Given the description of an element on the screen output the (x, y) to click on. 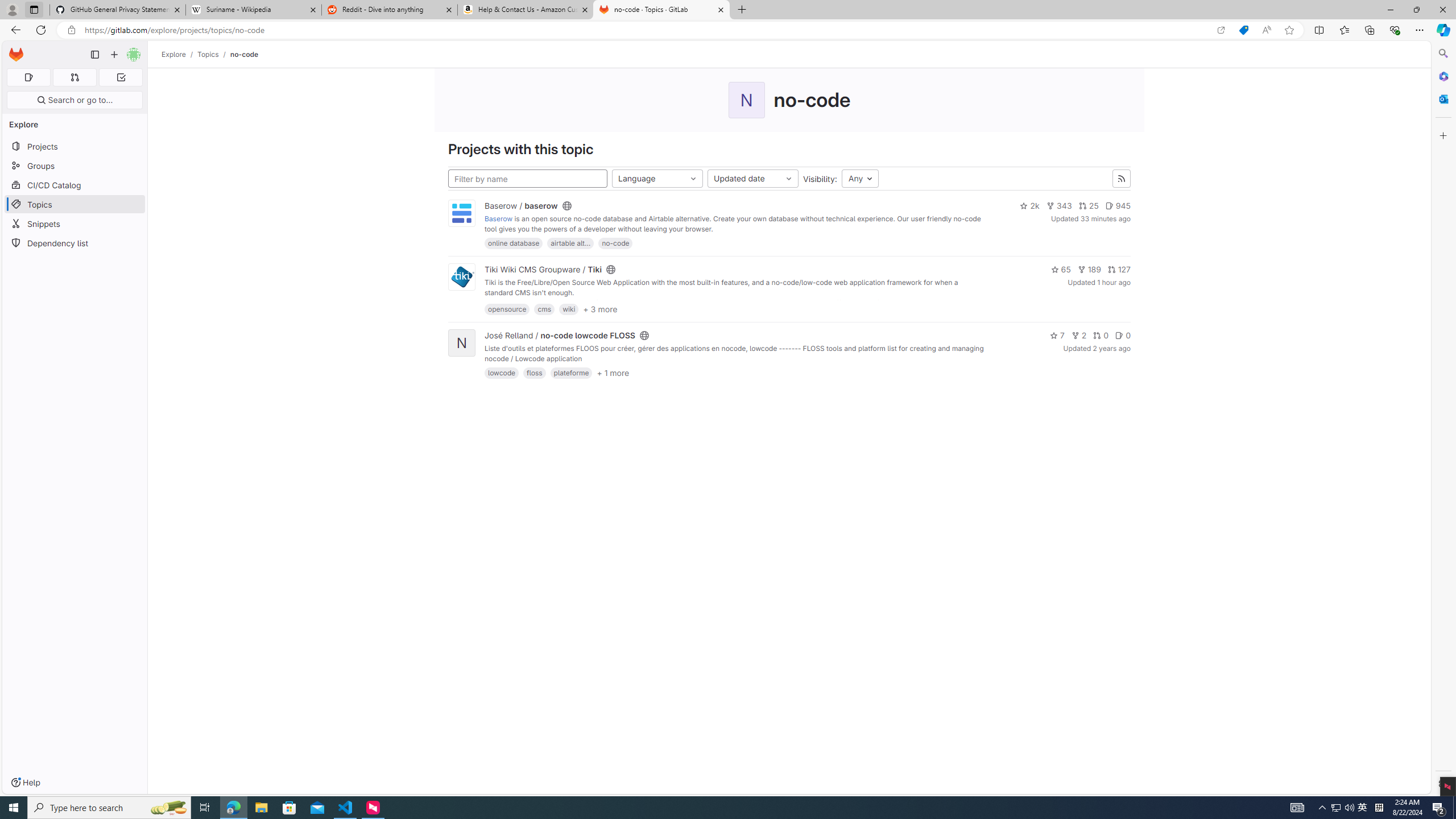
Language (657, 178)
Subscribe to the new projects feed (1121, 178)
Merge requests 0 (74, 76)
Topics (208, 53)
Updated date (752, 178)
Primary navigation sidebar (94, 54)
Snippets (74, 223)
opensource (506, 308)
Baserow (498, 218)
lowcode (501, 372)
